Given the description of an element on the screen output the (x, y) to click on. 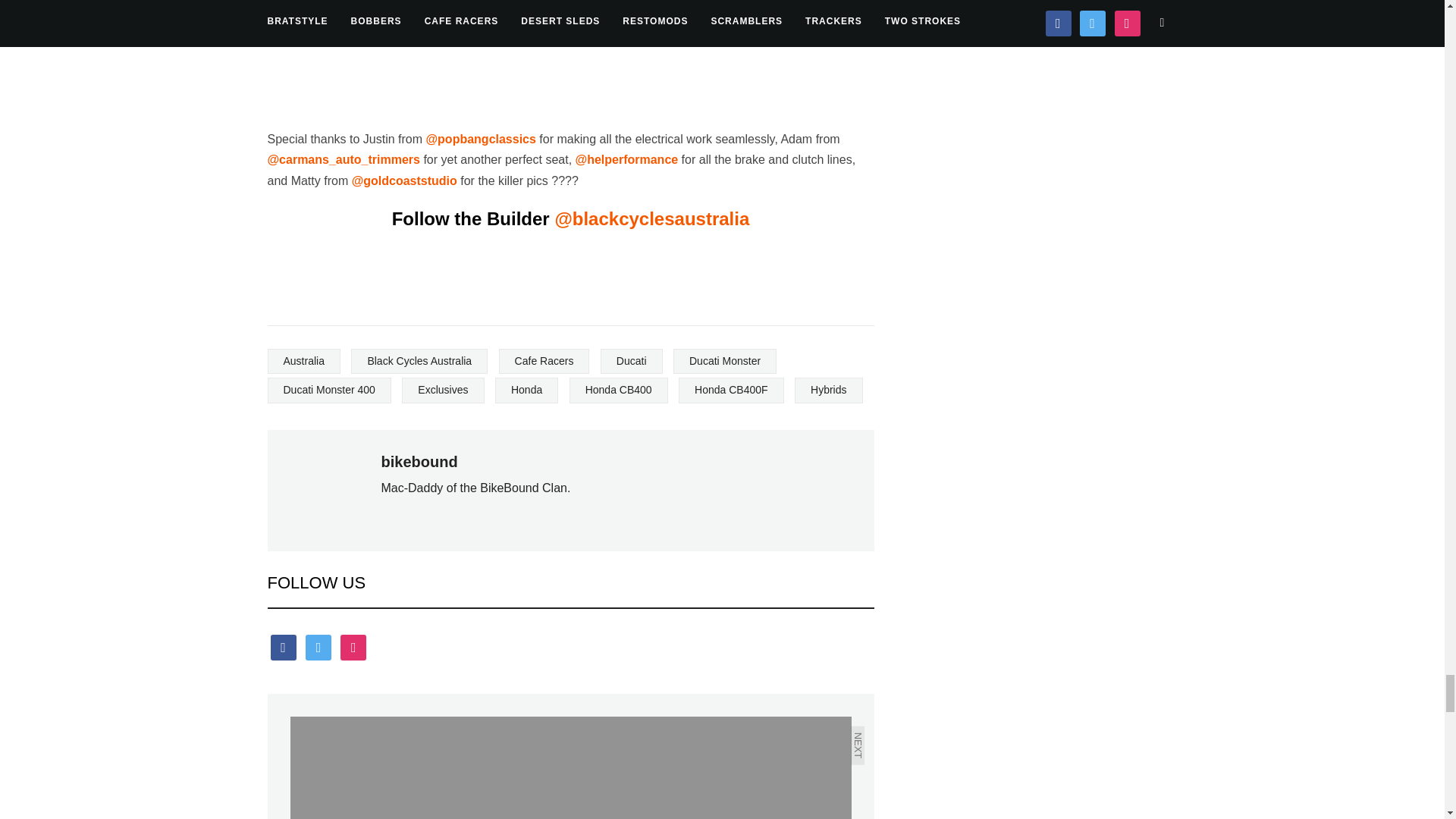
Ready, Set, Scram: World's First Scram 411 Custom! (429, 767)
Instagram (353, 645)
Moonshine: Suzuki TS100 Scrambler (710, 767)
Twitter (318, 645)
Facebook (282, 645)
Posts by bikebound (418, 461)
